Given the description of an element on the screen output the (x, y) to click on. 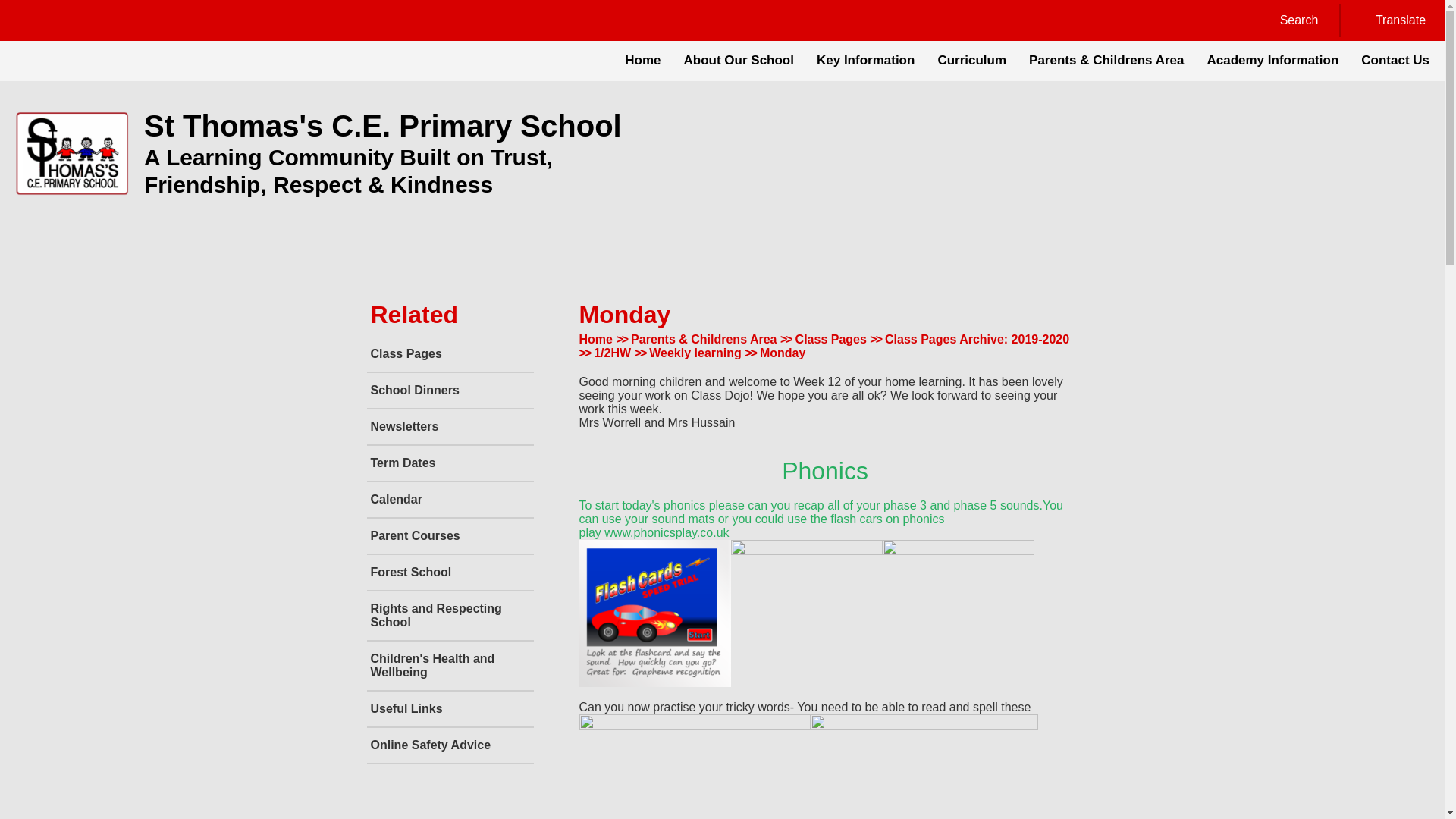
About Our School (738, 60)
Translate (1390, 20)
Home Page (71, 152)
Key Information (865, 60)
Search (1289, 20)
